Given the description of an element on the screen output the (x, y) to click on. 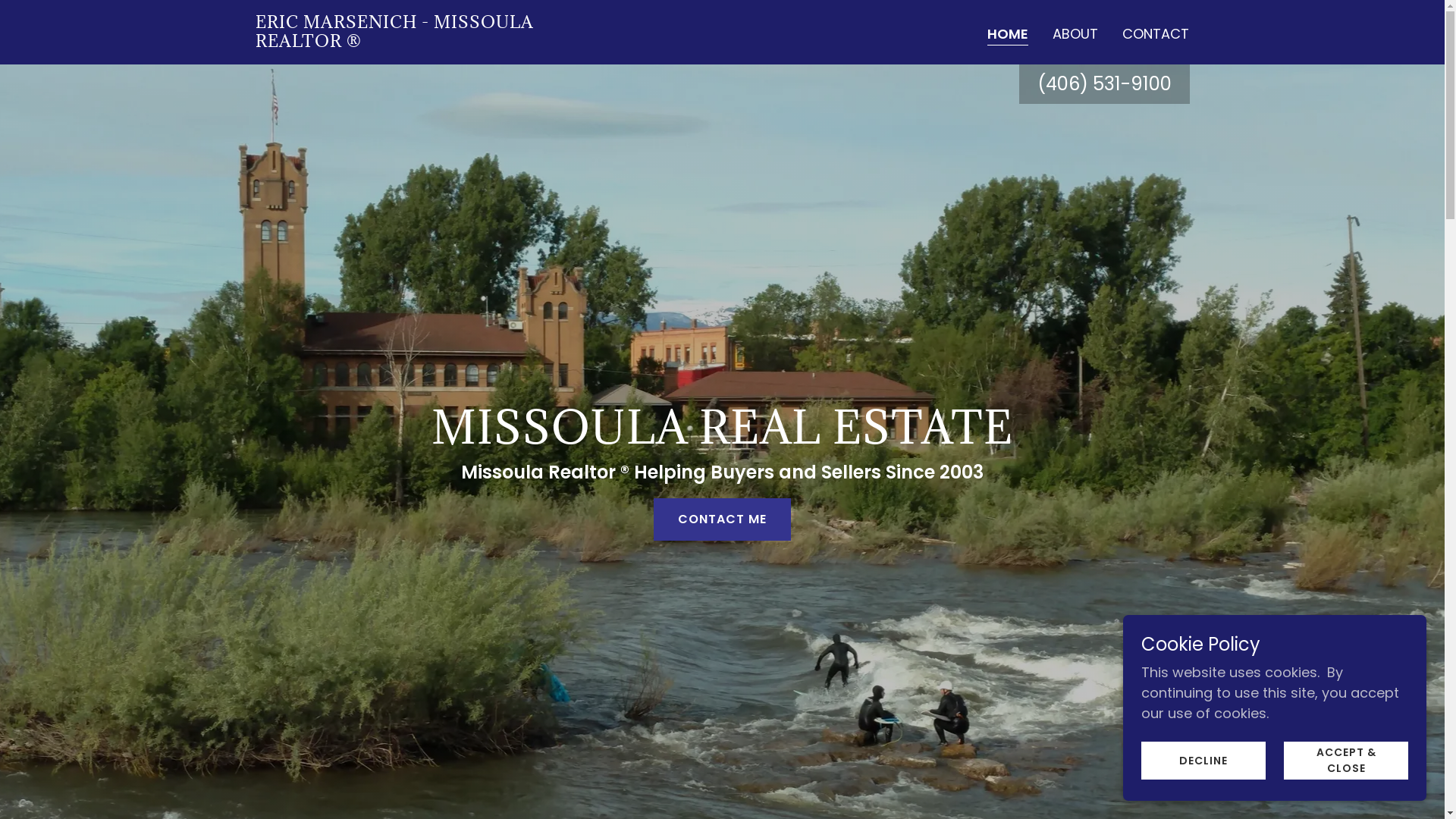
DECLINE Element type: text (1203, 760)
ACCEPT & CLOSE Element type: text (1345, 760)
(406) 531-9100 Element type: text (1104, 83)
CONTACT Element type: text (1155, 33)
CONTACT ME Element type: text (721, 519)
ABOUT Element type: text (1075, 33)
HOME Element type: text (1007, 35)
